Given the description of an element on the screen output the (x, y) to click on. 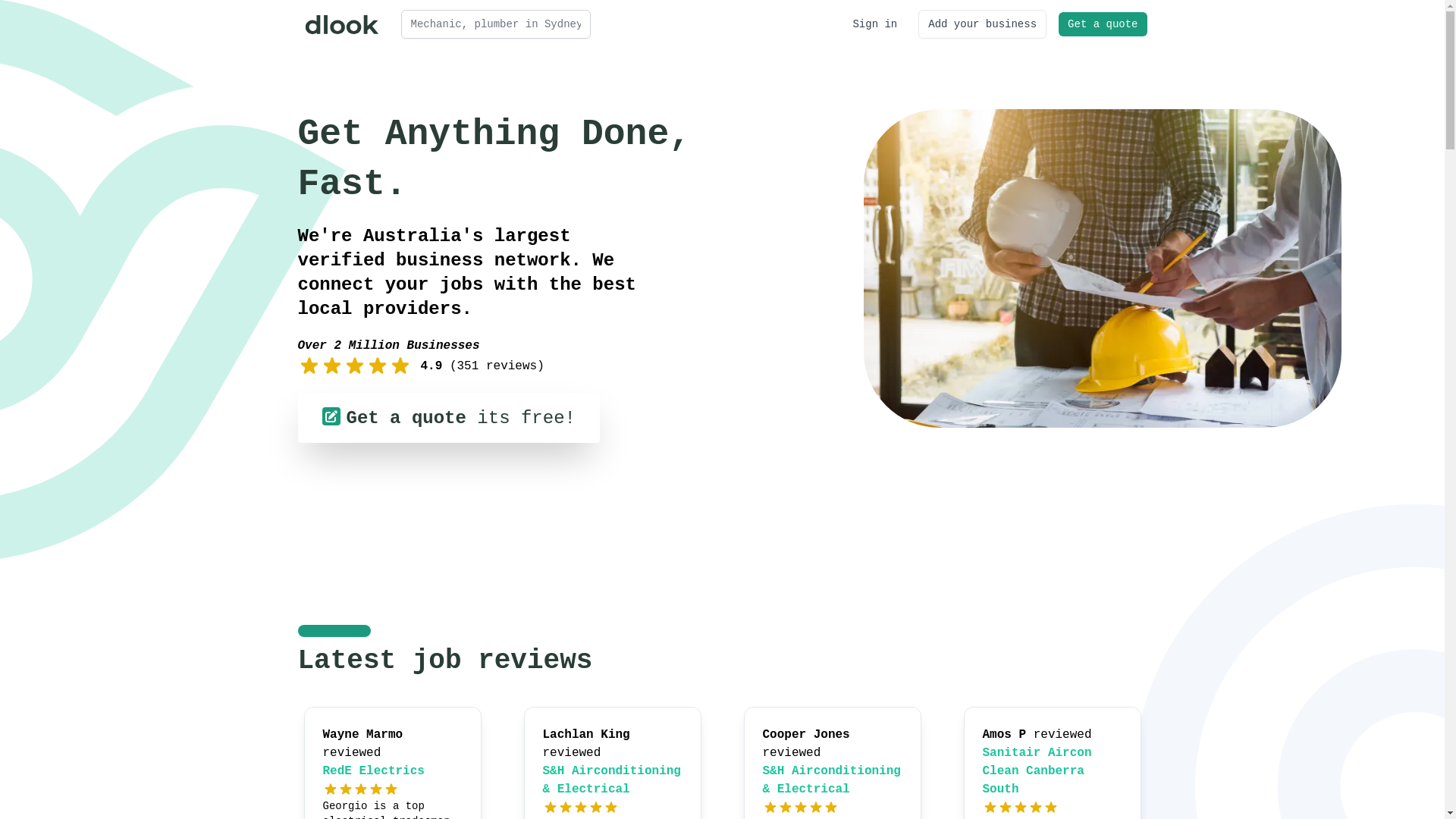
Sanitair Aircon Clean Canberra South Element type: text (1037, 771)
Get a quote its free! Element type: text (448, 417)
S&H Airconditioning & Electrical Element type: text (831, 780)
Add your business Element type: text (982, 23)
S&H Airconditioning & Electrical Element type: text (611, 780)
Sign in Element type: text (874, 23)
Get a quote Element type: text (1102, 24)
RedE Electrics Element type: text (373, 771)
